Given the description of an element on the screen output the (x, y) to click on. 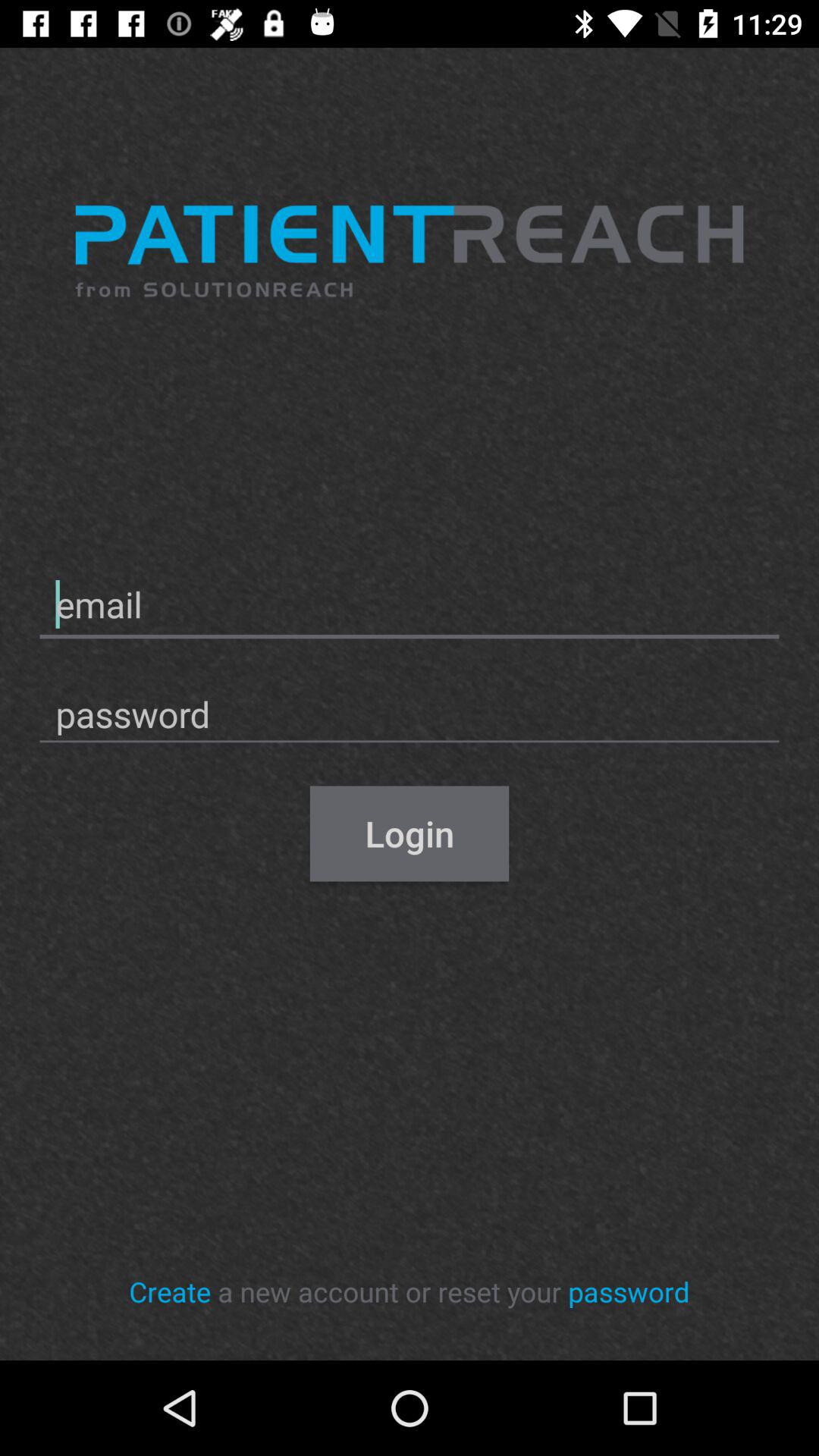
swipe until the create icon (170, 1291)
